Given the description of an element on the screen output the (x, y) to click on. 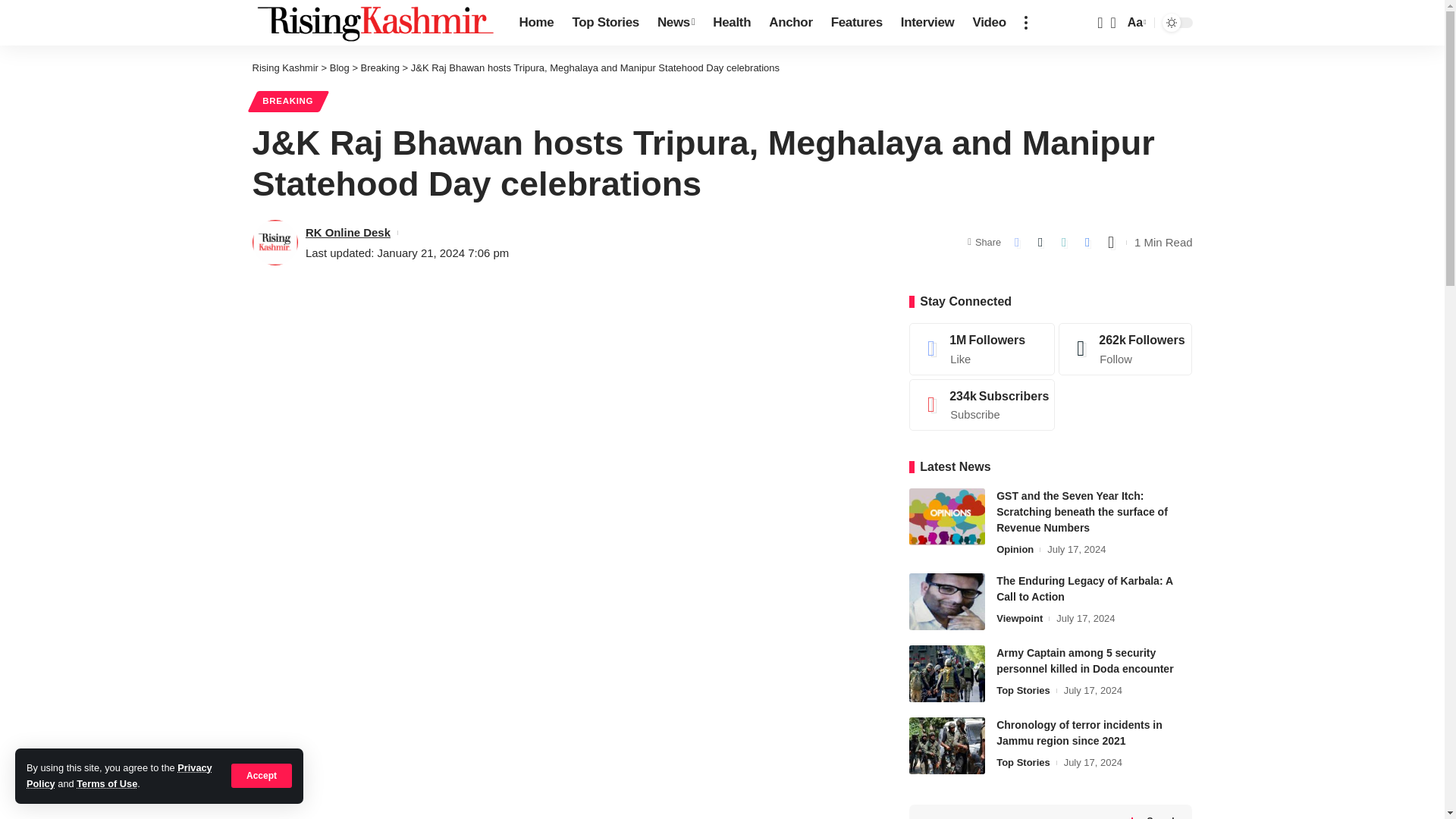
Top Stories (604, 22)
Privacy Policy (119, 775)
Rising Kashmir (373, 22)
Go to Blog. (339, 67)
Chronology of terror incidents in Jammu region since 2021 (946, 745)
Anchor (790, 22)
Video (988, 22)
Health (731, 22)
Interview (927, 22)
